Given the description of an element on the screen output the (x, y) to click on. 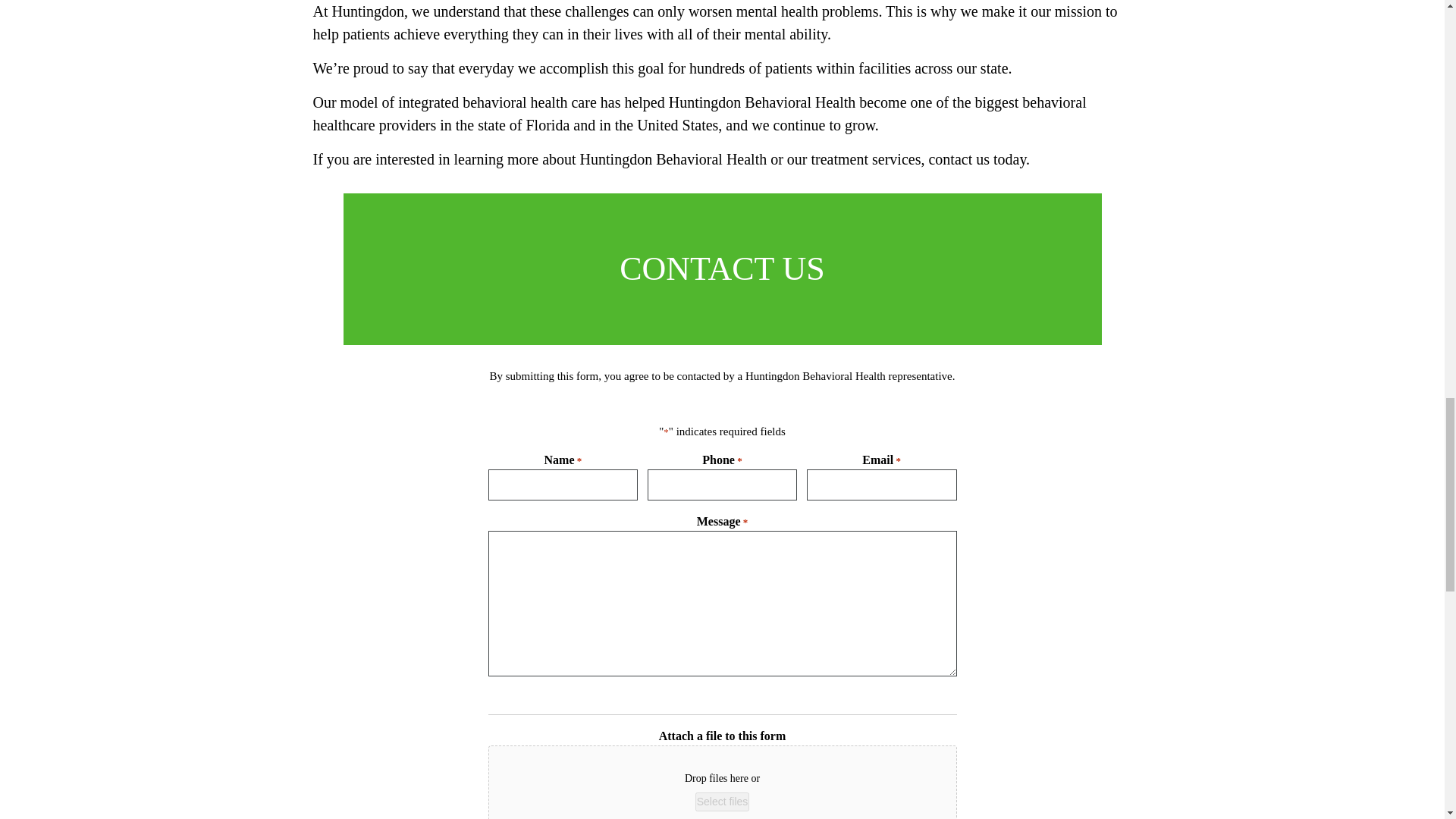
Select files (722, 801)
